Given the description of an element on the screen output the (x, y) to click on. 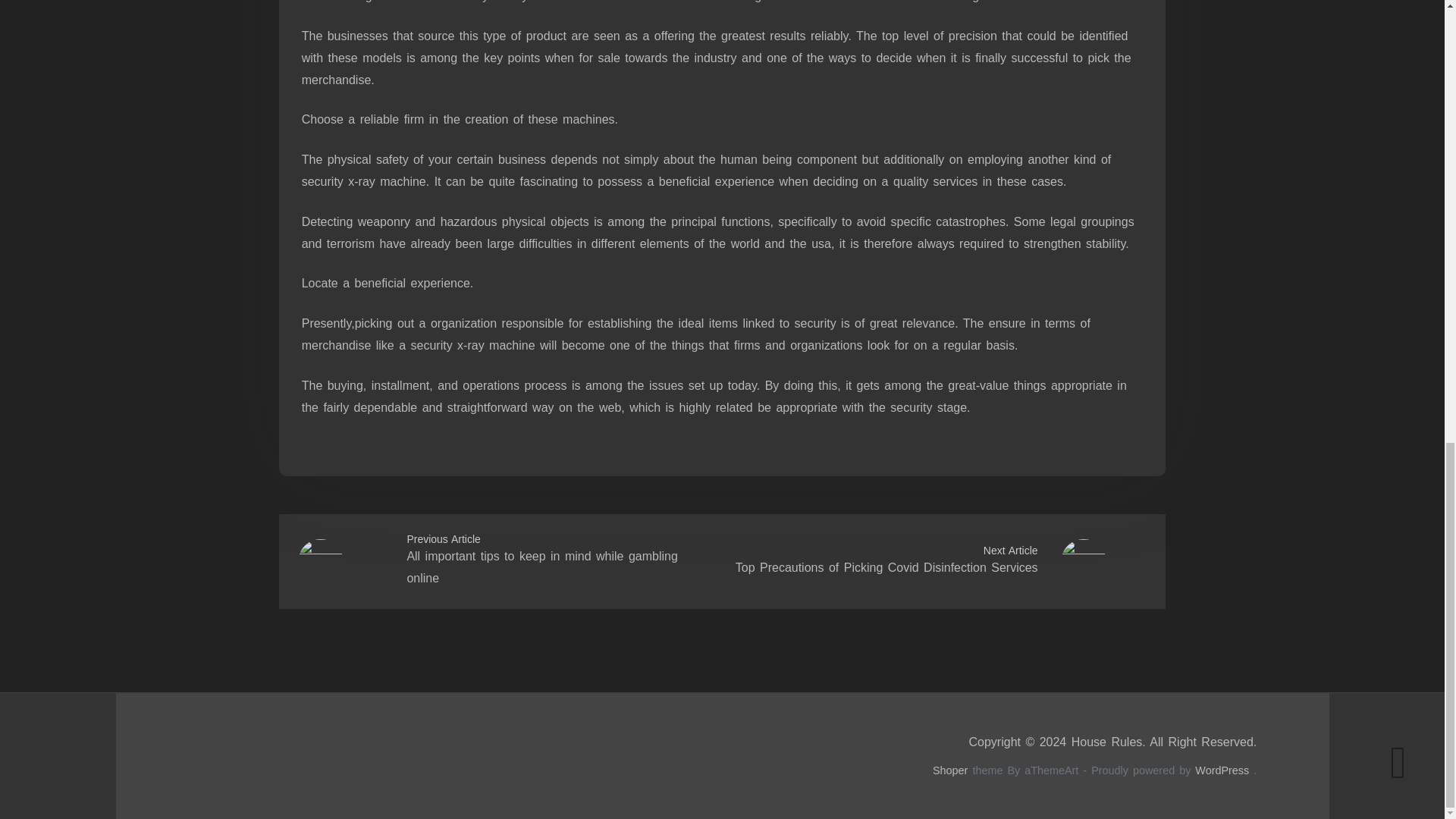
All important tips to keep in mind while gambling online (542, 566)
Top Precautions of Picking Covid Disinfection Services (886, 567)
WordPress (1222, 770)
Shoper (950, 770)
